Given the description of an element on the screen output the (x, y) to click on. 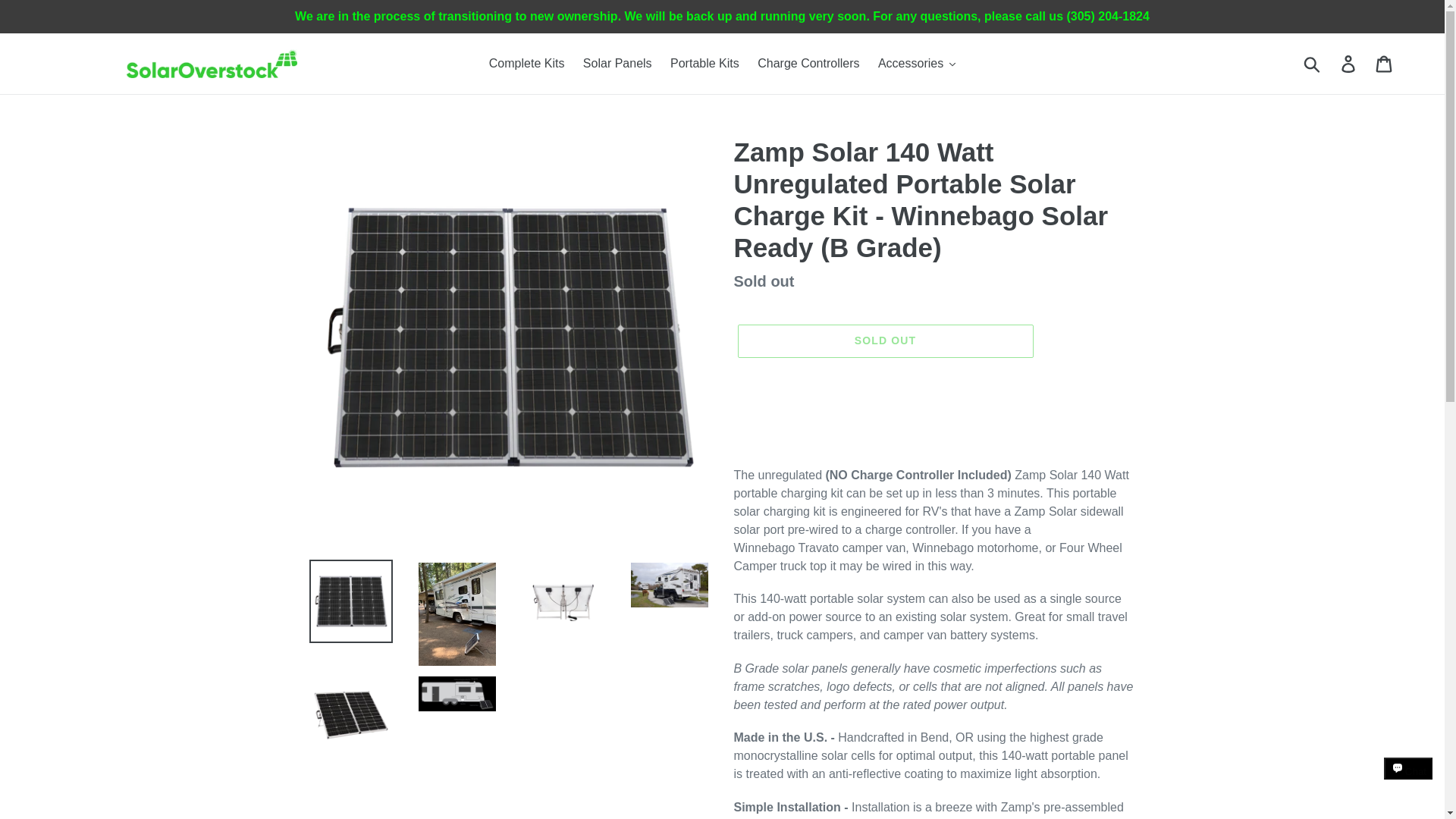
Solar Panels (617, 63)
Shopify online store chat (1408, 781)
Portable Kits (704, 63)
Charge Controllers (807, 63)
Complete Kits (526, 63)
Cart (1385, 63)
Submit (1313, 63)
SOLD OUT (884, 340)
Log in (1349, 63)
